Given the description of an element on the screen output the (x, y) to click on. 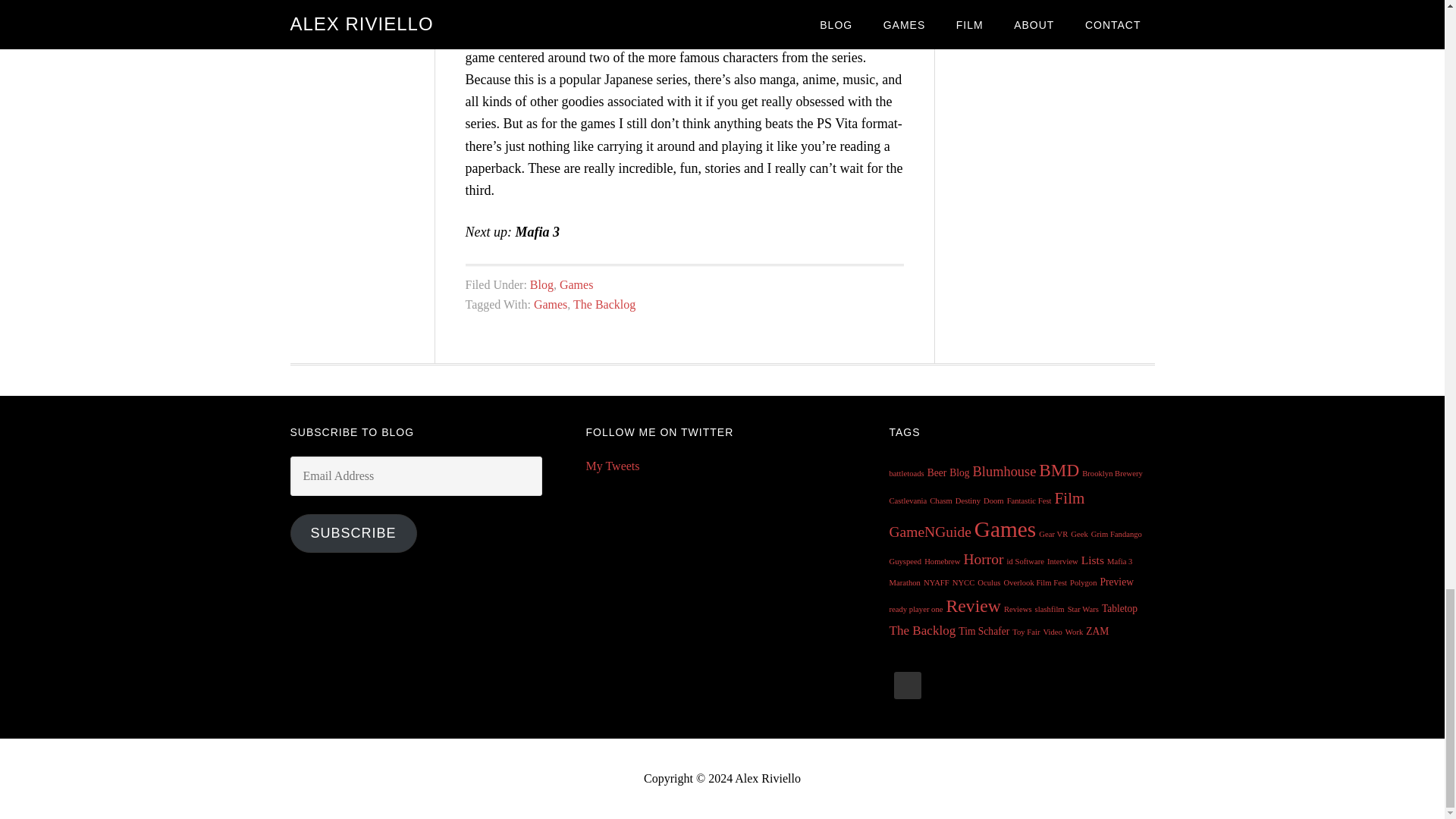
Blog (959, 472)
Blumhouse (1004, 471)
Film (1069, 497)
Homebrew (941, 561)
My Tweets (612, 465)
SUBSCRIBE (352, 533)
Games (575, 284)
BMD (1058, 469)
Blog (541, 284)
battletoads (905, 473)
Beer (937, 472)
Castlevania (907, 500)
Geek (1078, 533)
GameNGuide (929, 531)
Horror (982, 559)
